Given the description of an element on the screen output the (x, y) to click on. 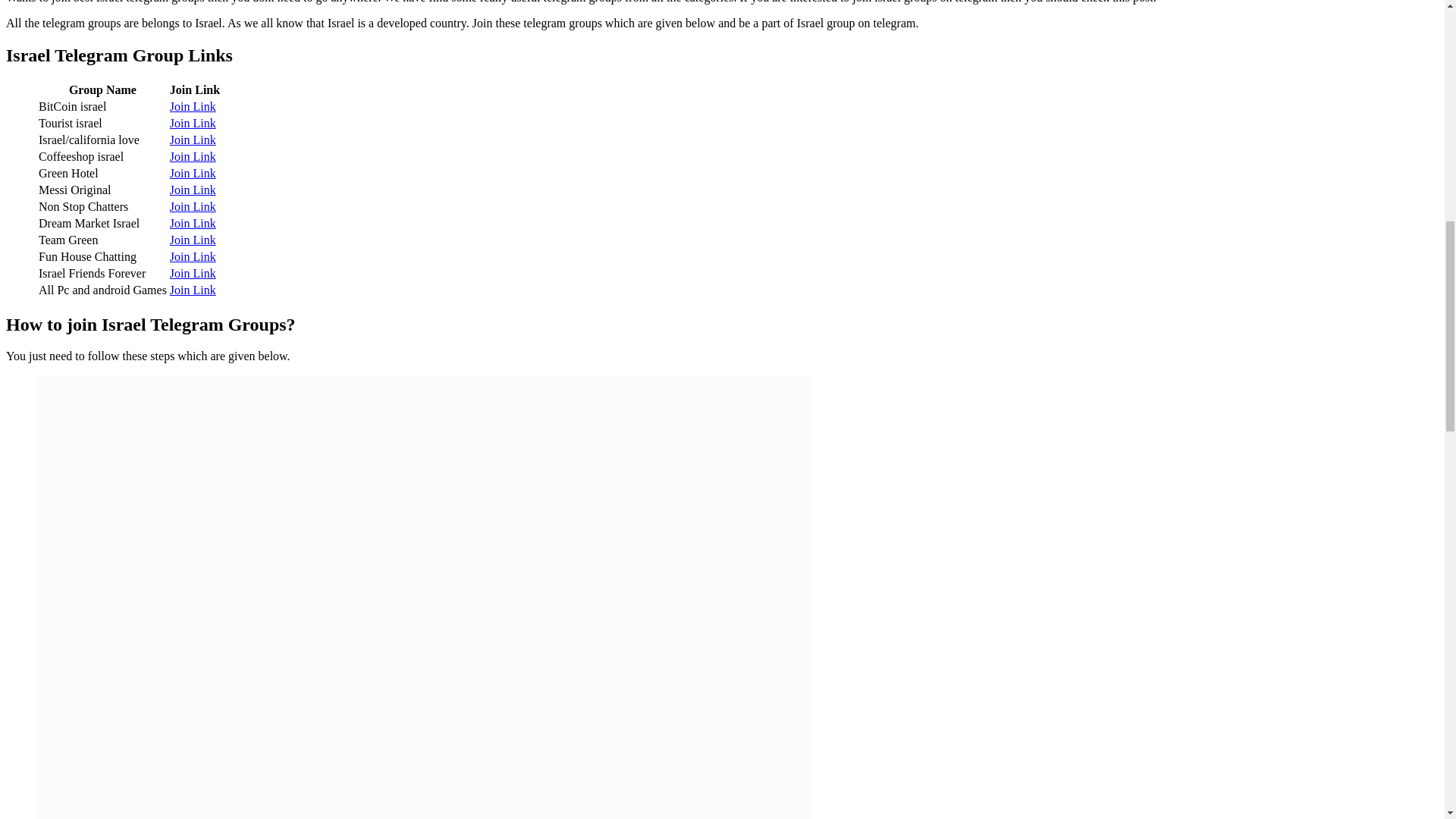
Join Link (192, 139)
Join Link (192, 173)
Join Link (192, 256)
Join Link (192, 106)
Join Link (192, 239)
Join Link (192, 205)
Join Link (192, 189)
Join Link (192, 155)
Join Link (192, 223)
Join Link (192, 289)
